Given the description of an element on the screen output the (x, y) to click on. 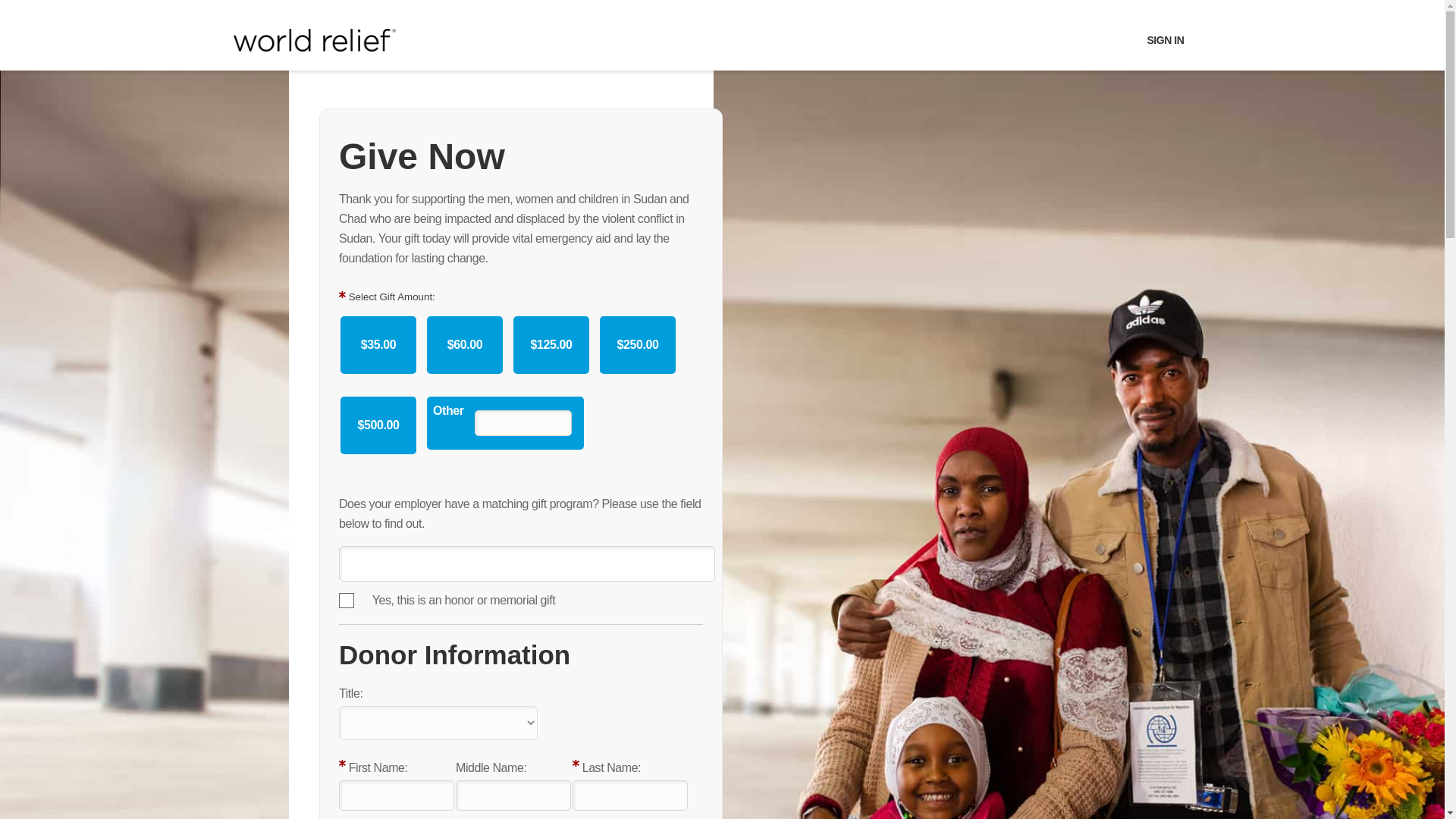
on (346, 600)
Cancel (25, 17)
SIGN IN (1164, 40)
